Given the description of an element on the screen output the (x, y) to click on. 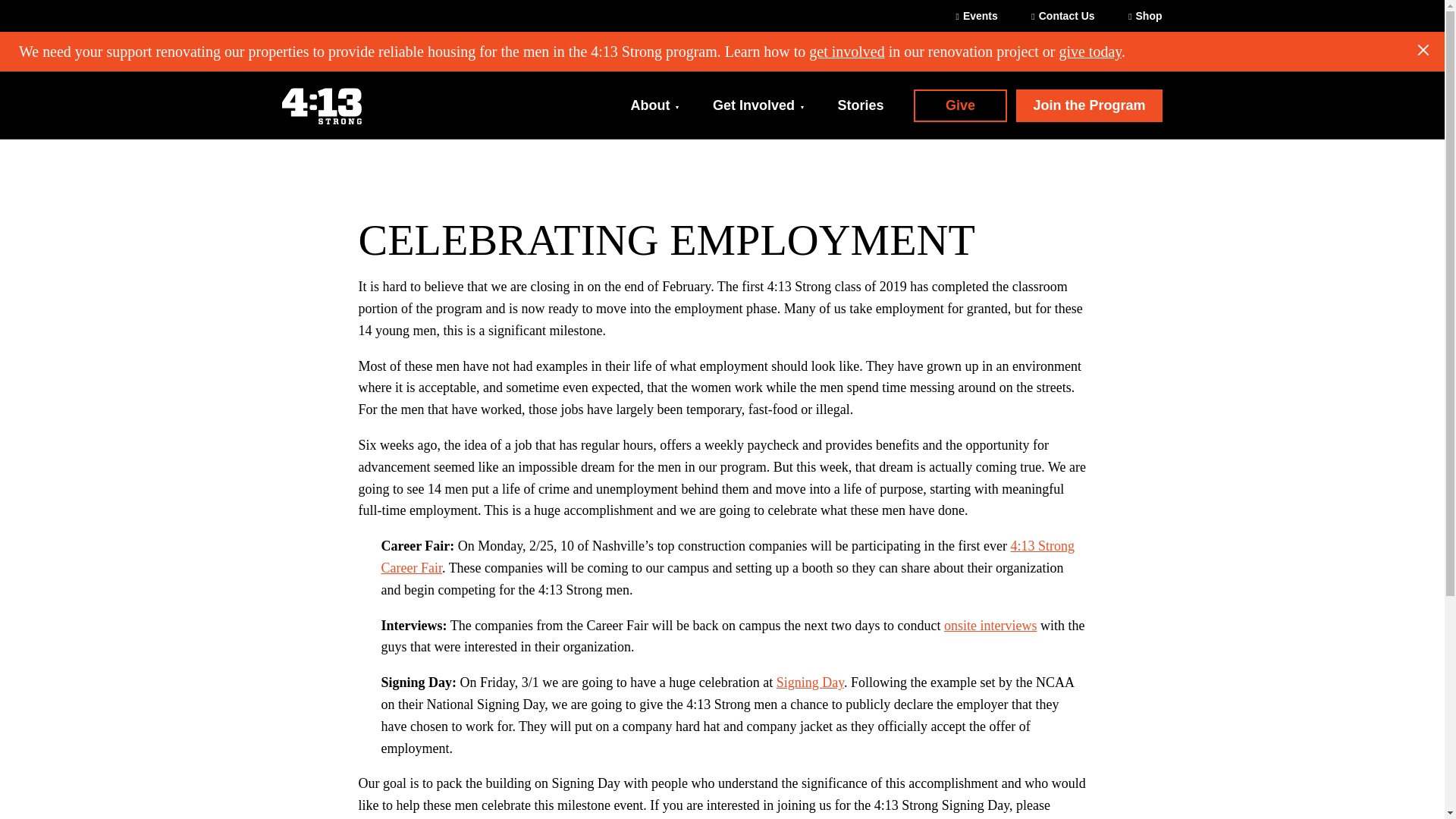
Join the Program (1088, 105)
About (662, 105)
Get Involved (757, 105)
Shop (1137, 15)
Give (960, 105)
get involved (846, 51)
Stories (860, 105)
give today (1089, 51)
Contact Us (1062, 15)
Events (984, 15)
